Given the description of an element on the screen output the (x, y) to click on. 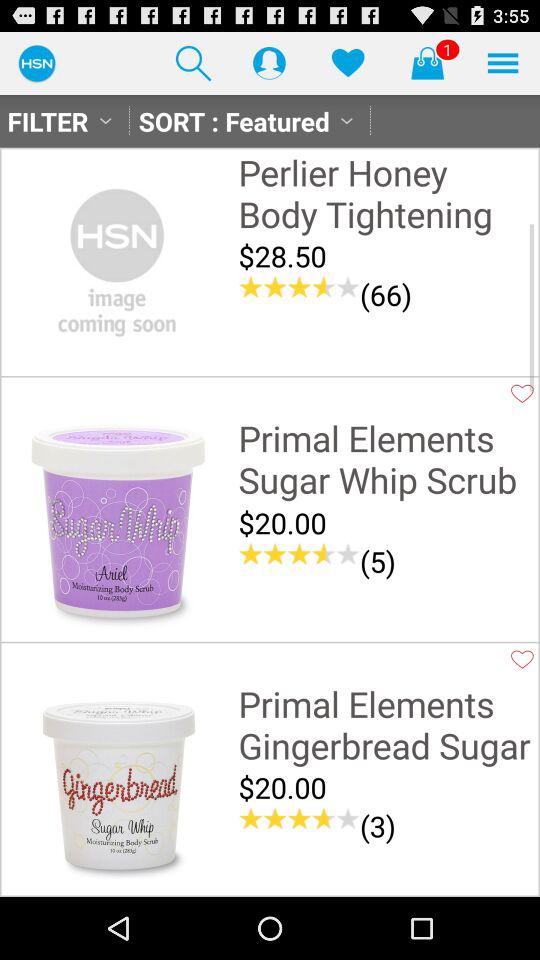
tap perlier honey body (385, 192)
